Given the description of an element on the screen output the (x, y) to click on. 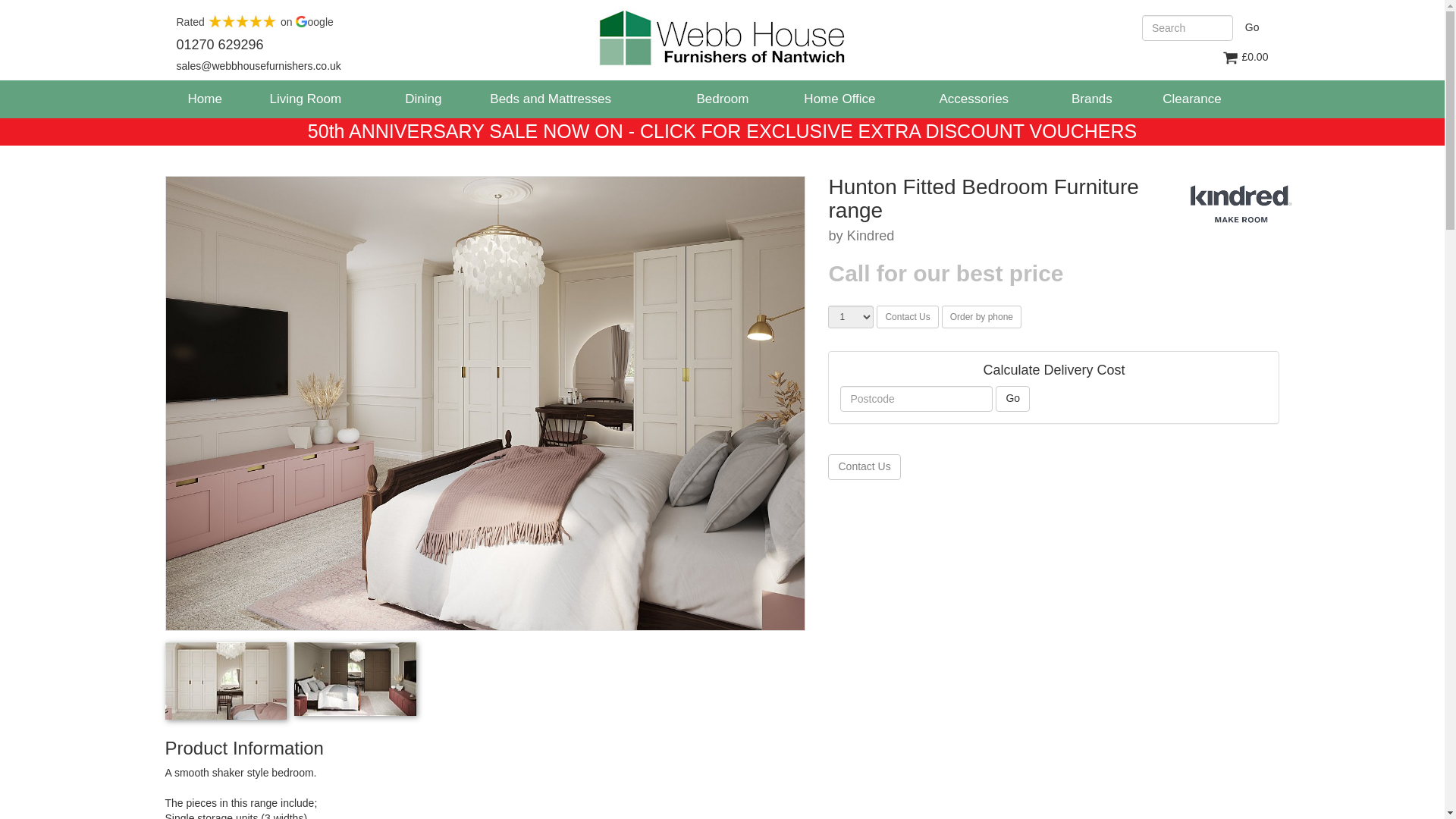
Click to read our reviews on Google. (254, 21)
Living Room (306, 98)
Return to home page (721, 37)
Click to view (355, 678)
Click to view (225, 680)
Rated on oogle (254, 21)
Contact Us for Pricing (906, 316)
Go (1252, 27)
